Given the description of an element on the screen output the (x, y) to click on. 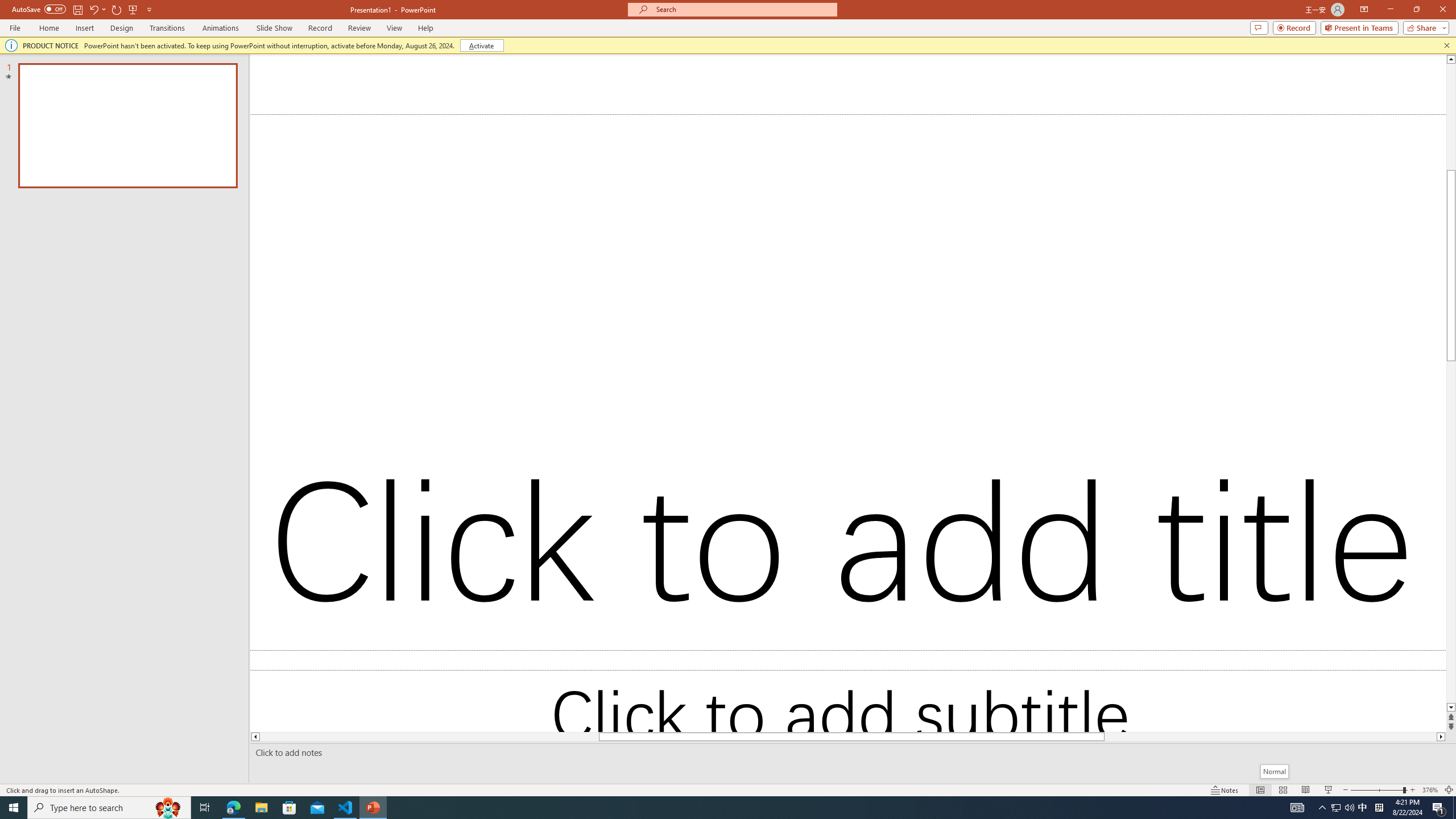
Close this message (1446, 45)
Zoom 376% (1430, 790)
